Given the description of an element on the screen output the (x, y) to click on. 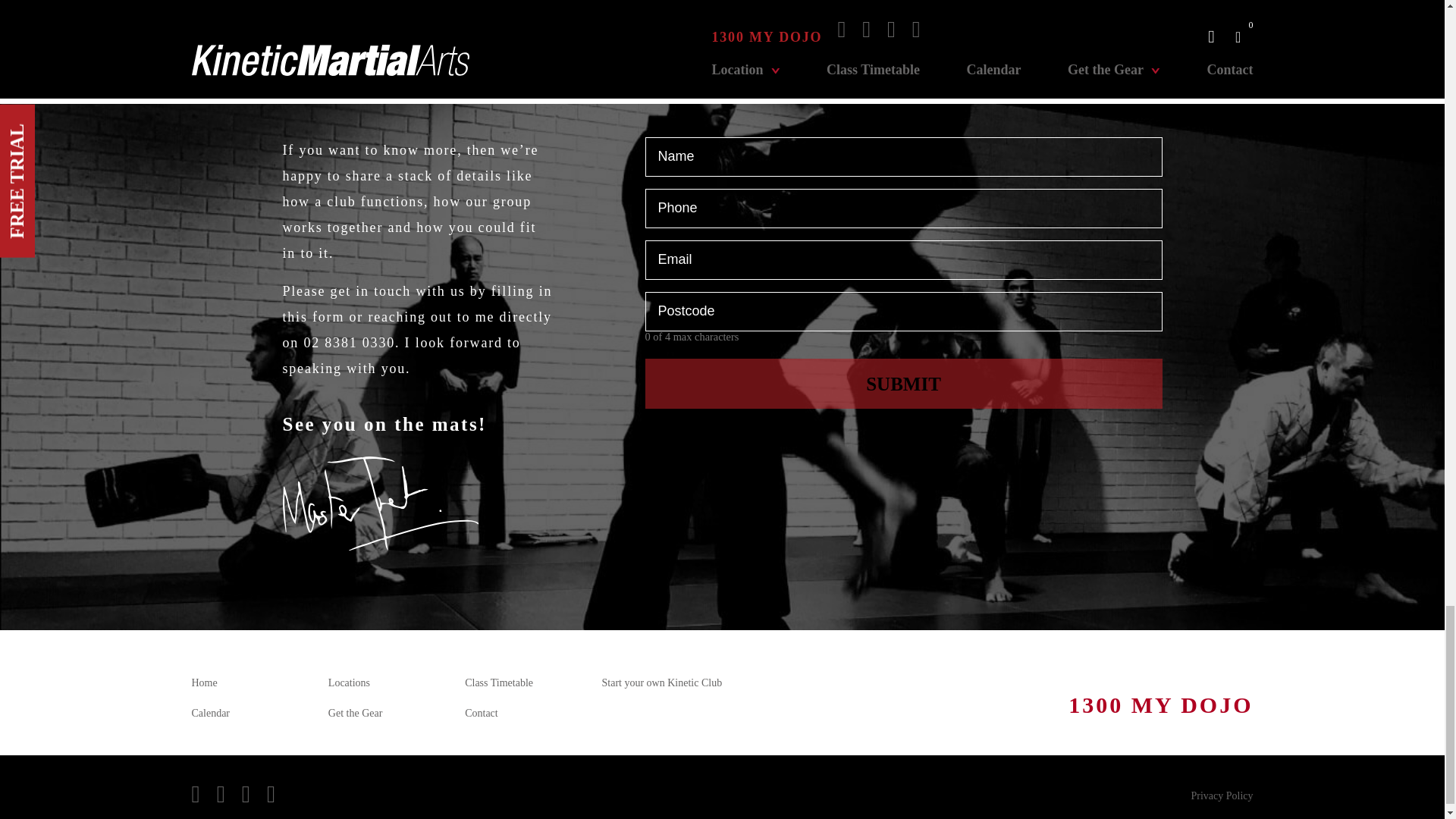
Submit (903, 383)
